Given the description of an element on the screen output the (x, y) to click on. 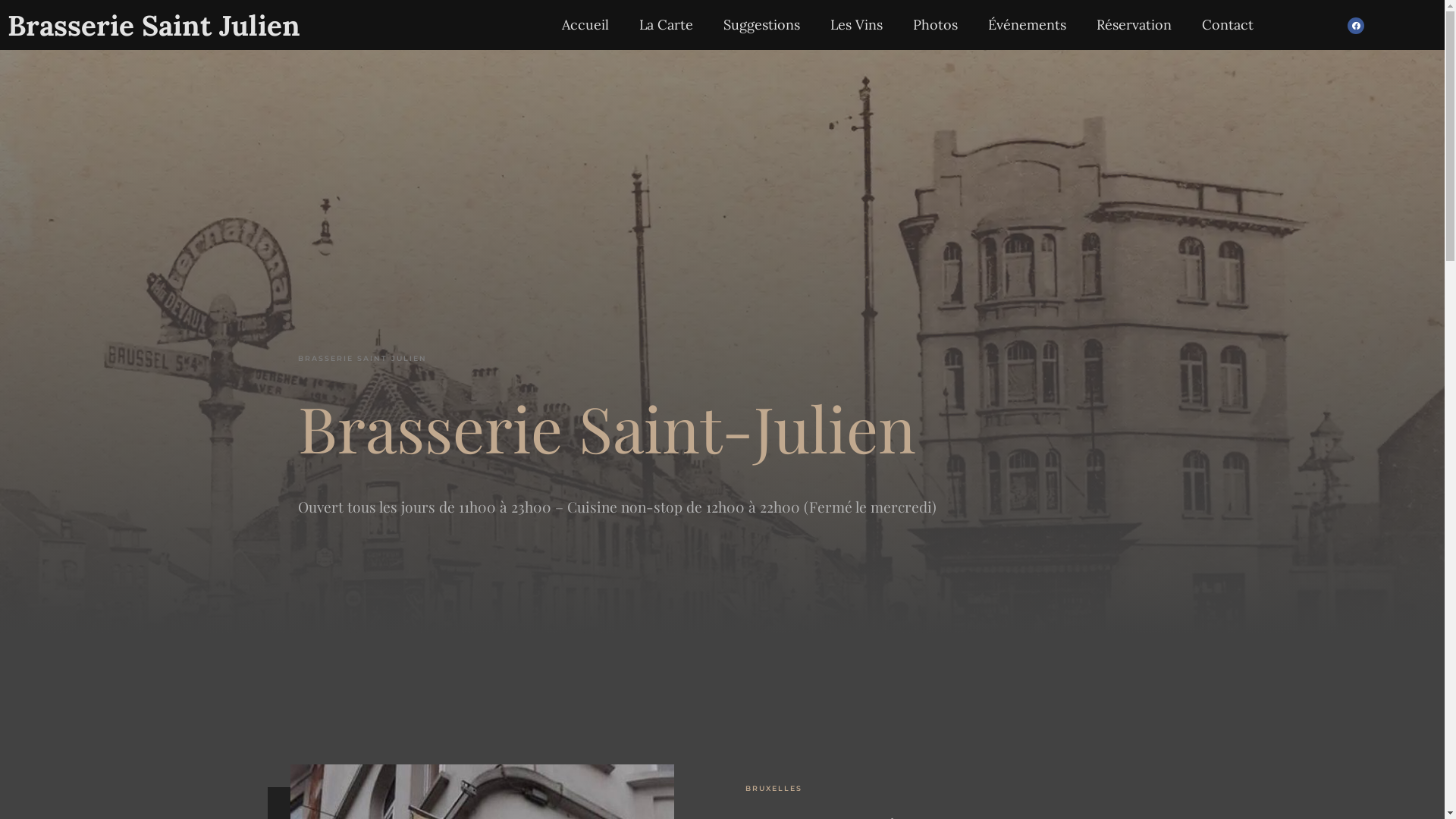
Photos Element type: text (934, 24)
Brasserie Saint Julien Element type: text (153, 25)
Accueil Element type: text (585, 24)
Suggestions Element type: text (761, 24)
Contact Element type: text (1227, 24)
La Carte Element type: text (666, 24)
Les Vins Element type: text (856, 24)
